Given the description of an element on the screen output the (x, y) to click on. 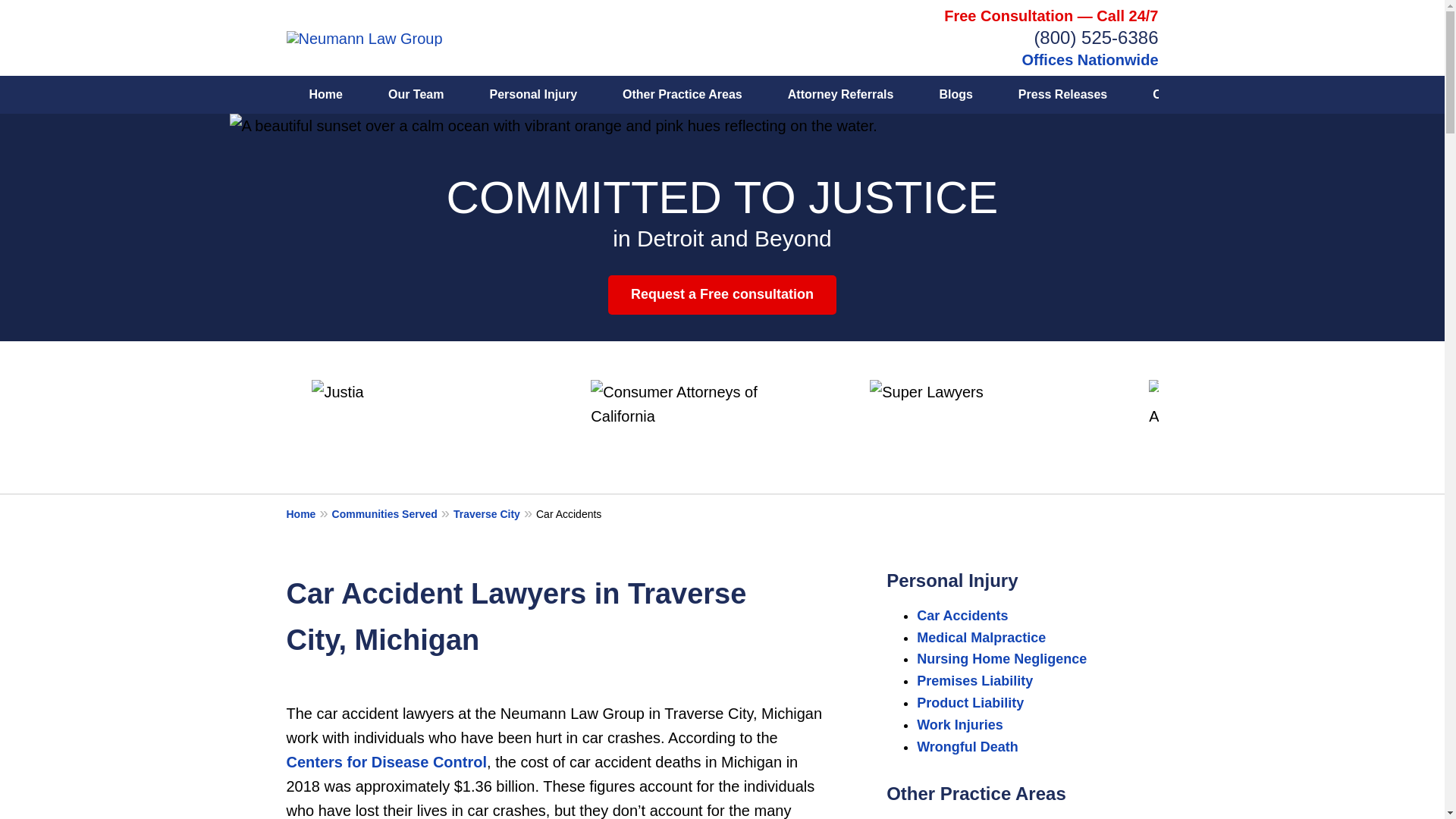
Communities Served (391, 513)
Contact Us (1306, 94)
Personal Injury (532, 94)
Our Team (416, 94)
Home (308, 513)
Communities (1190, 94)
Home (325, 94)
Request a Free consultation (721, 294)
Blogs (954, 94)
Attorney Referrals (841, 94)
Other Practice Areas (682, 94)
Offices Nationwide (1089, 59)
Press Releases (1062, 94)
